Given the description of an element on the screen output the (x, y) to click on. 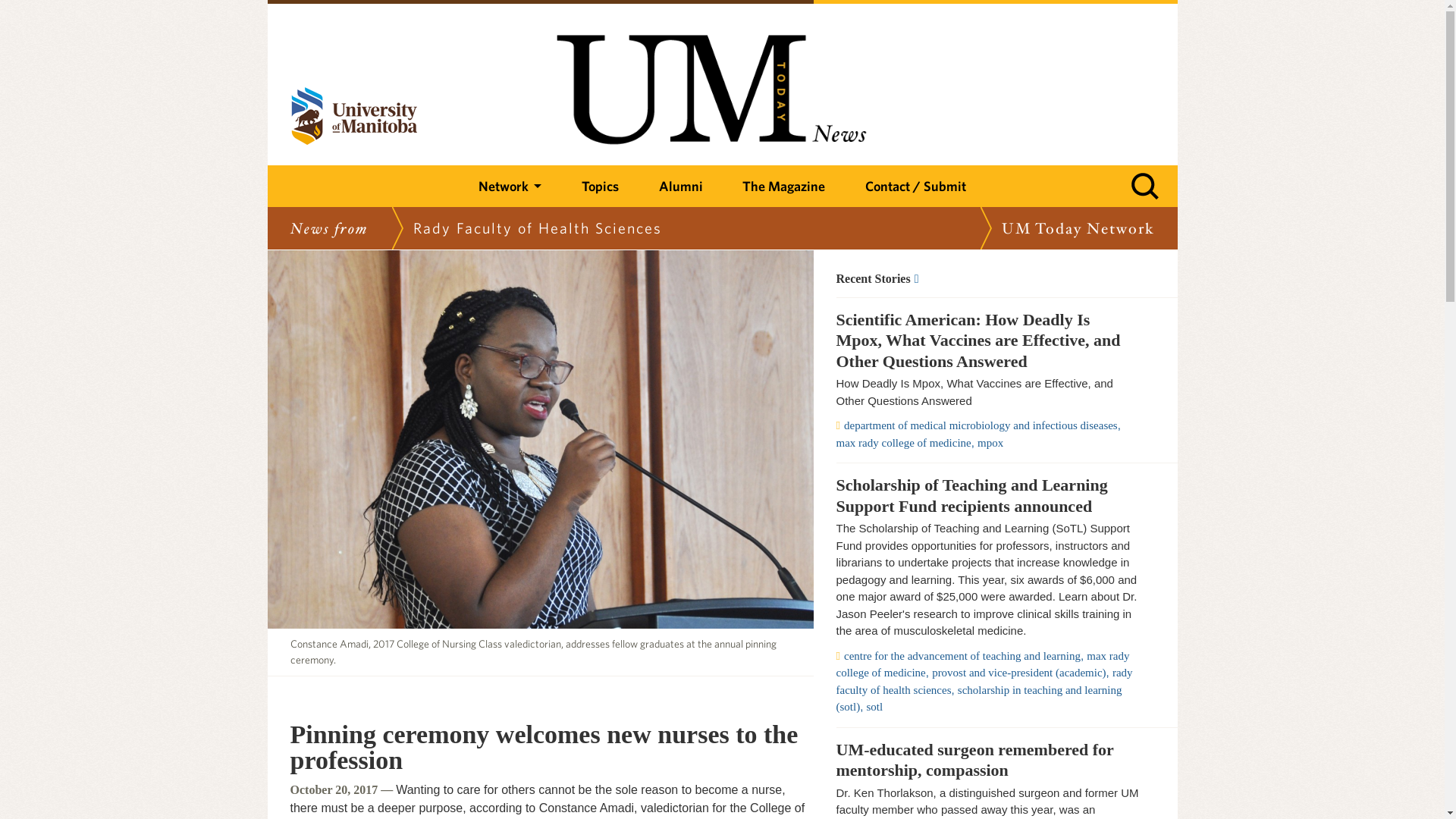
UM-educated surgeon remembered for mentorship, compassion (986, 760)
News Archives (986, 278)
Network (510, 186)
